Given the description of an element on the screen output the (x, y) to click on. 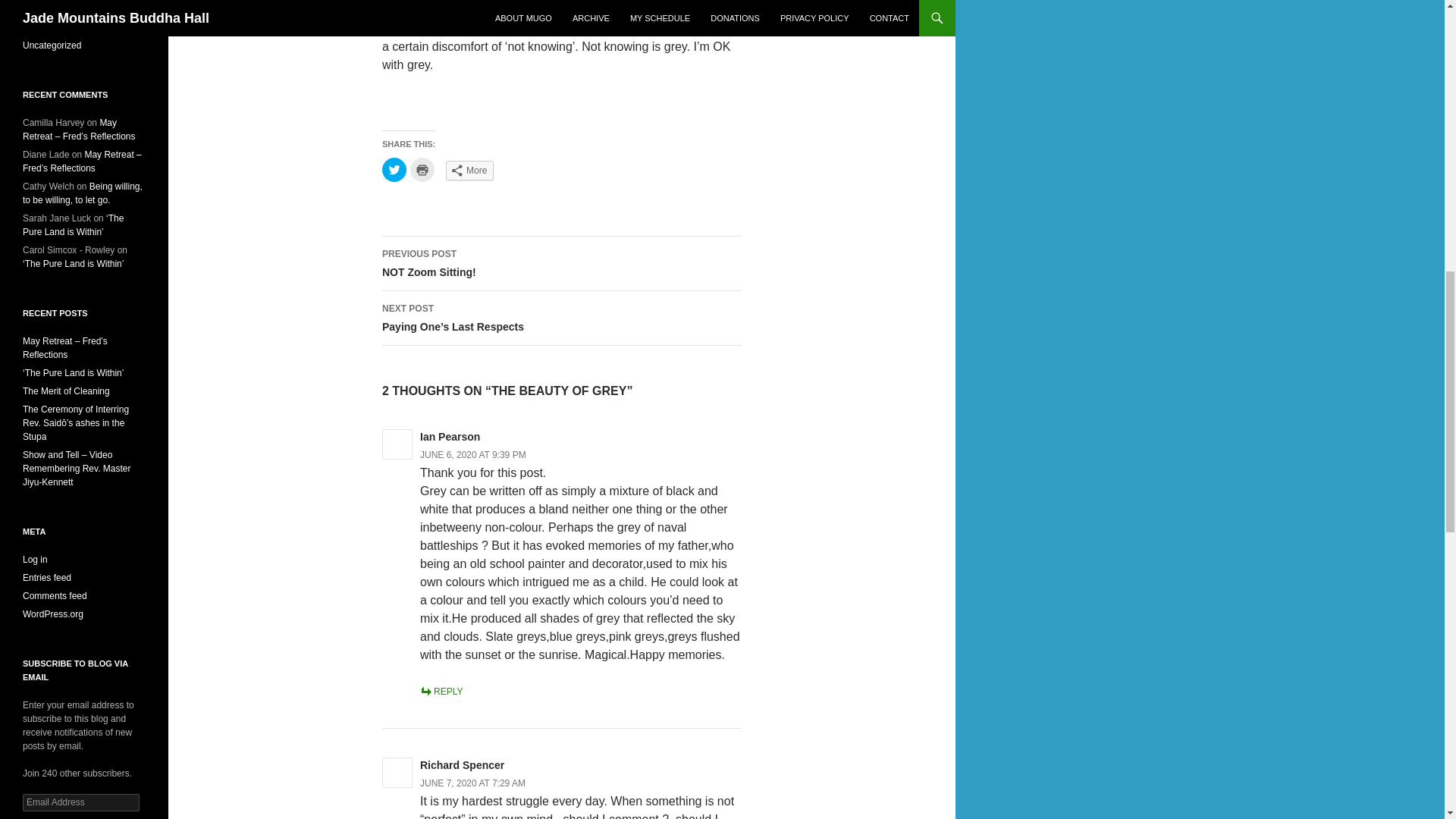
REPLY (441, 691)
Click to print (421, 169)
Click to share on Twitter (393, 169)
JUNE 6, 2020 AT 9:39 PM (472, 454)
More (469, 170)
JUNE 7, 2020 AT 7:29 AM (472, 783)
